Given the description of an element on the screen output the (x, y) to click on. 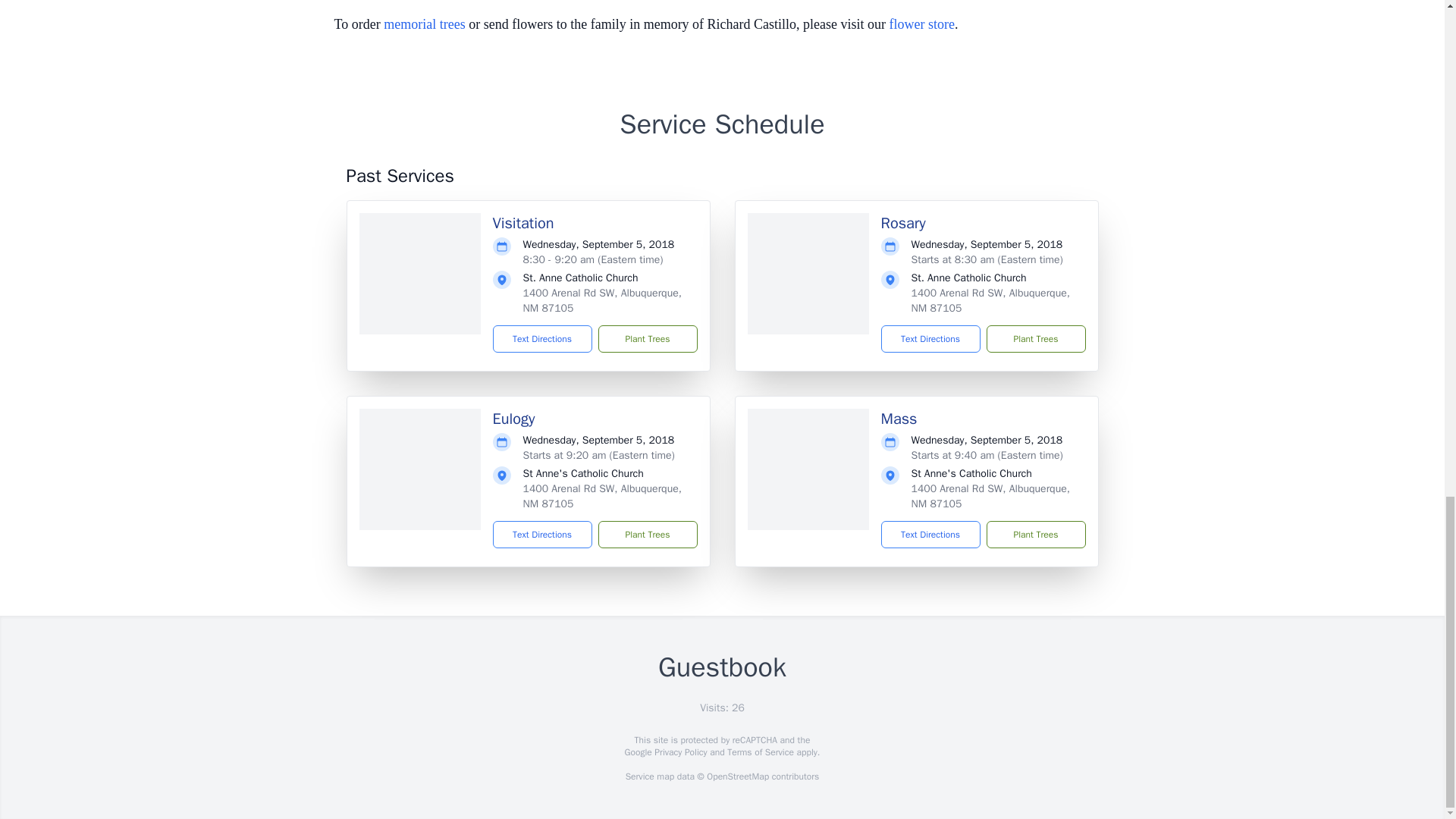
1400 Arenal Rd SW, Albuquerque, NM 87105 (601, 300)
Text Directions (542, 533)
1400 Arenal Rd SW, Albuquerque, NM 87105 (601, 496)
memorial trees (424, 23)
Plant Trees (1034, 338)
Text Directions (929, 533)
Plant Trees (1034, 533)
Text Directions (542, 338)
flower store (922, 23)
Plant Trees (646, 338)
1400 Arenal Rd SW, Albuquerque, NM 87105 (990, 496)
Text Directions (929, 338)
1400 Arenal Rd SW, Albuquerque, NM 87105 (990, 300)
Plant Trees (646, 533)
